Given the description of an element on the screen output the (x, y) to click on. 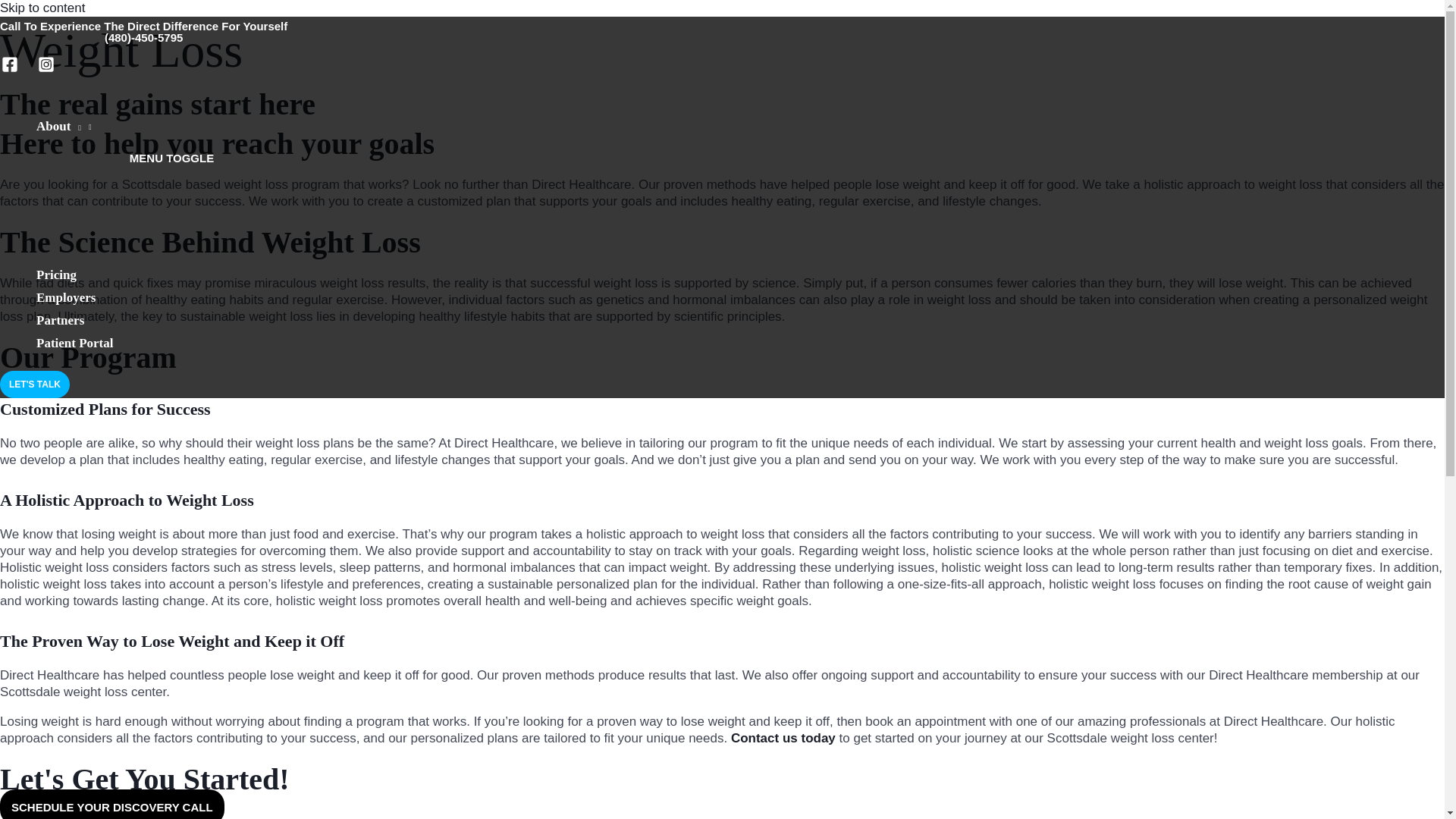
Patient Portal (171, 345)
Skip to content (42, 7)
Employer Groups (171, 300)
Skip to content (42, 7)
About (171, 128)
DIRECT Partners (171, 323)
SCHEDULE YOUR DISCOVERY CALL (112, 804)
Contact us today (782, 738)
DIRECT Pricing (171, 277)
Employers (171, 300)
Pricing (171, 277)
Partners (171, 323)
Patient Portal (171, 345)
LET'S TALK (34, 384)
MENU TOGGLE (171, 157)
